Given the description of an element on the screen output the (x, y) to click on. 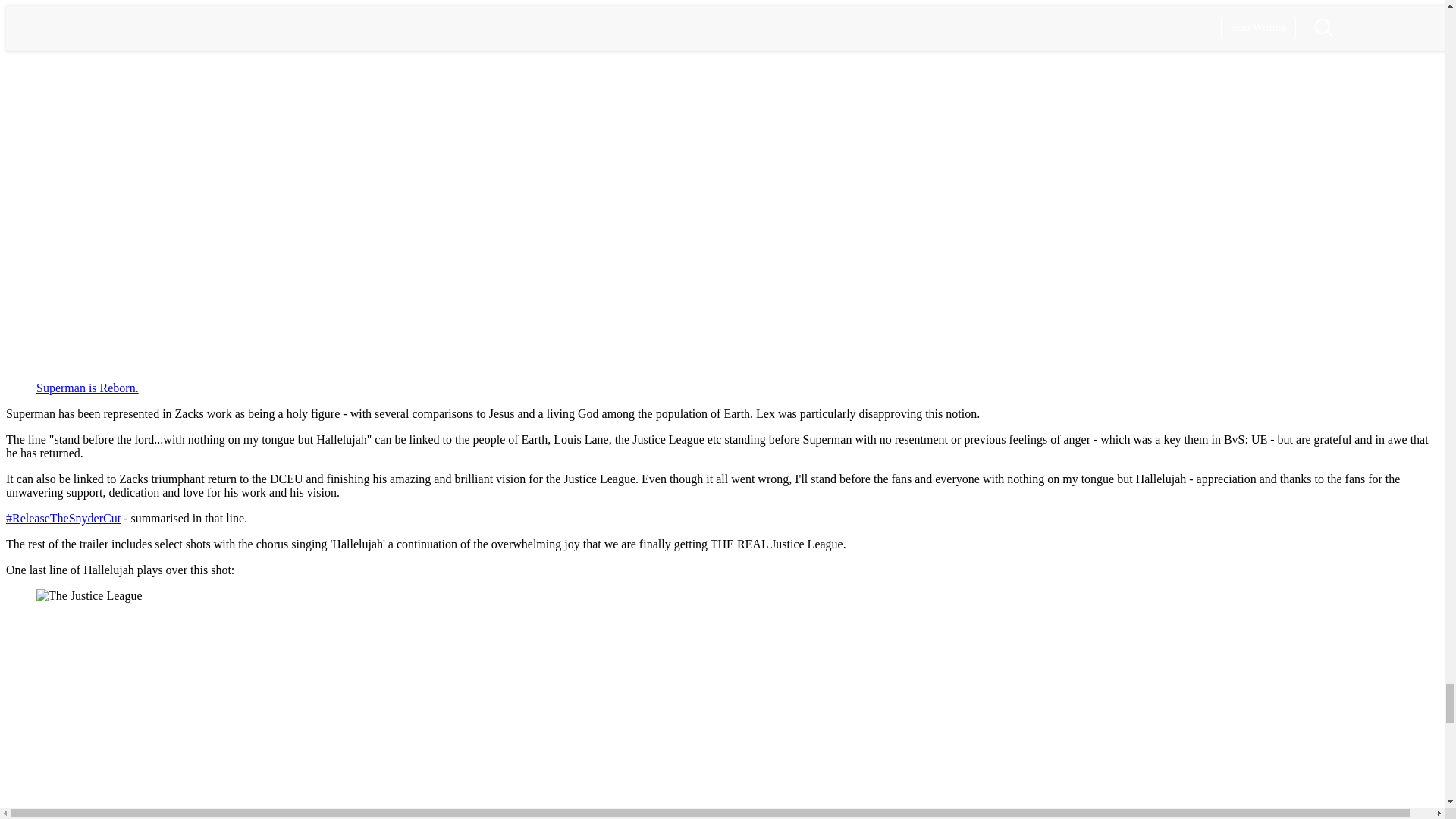
Superman is Reborn. (87, 387)
